Given the description of an element on the screen output the (x, y) to click on. 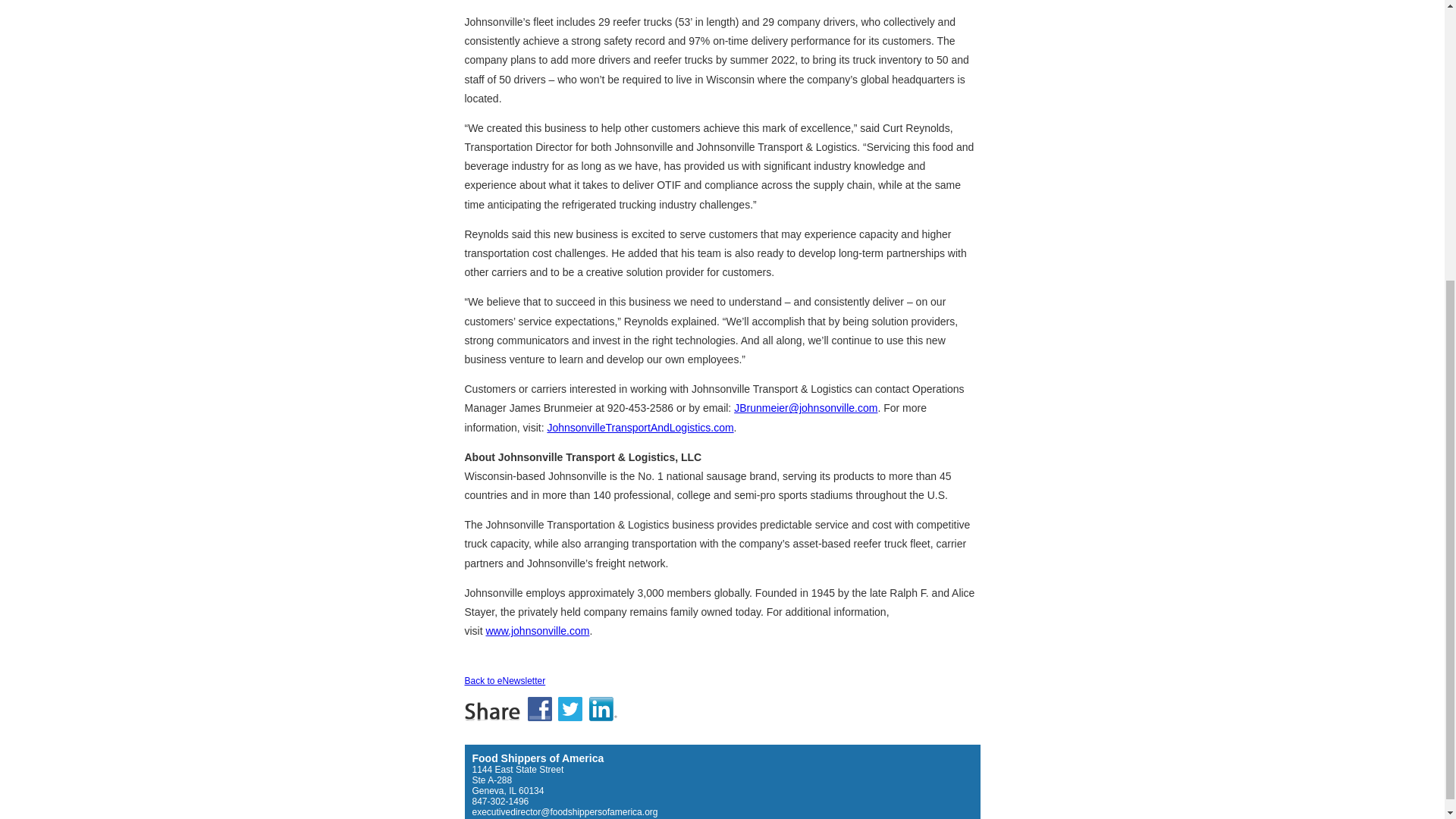
JohnsonvilleTransportAndLogistics.com (640, 427)
www.johnsonville.com (536, 630)
Back to eNewsletter (504, 680)
